Given the description of an element on the screen output the (x, y) to click on. 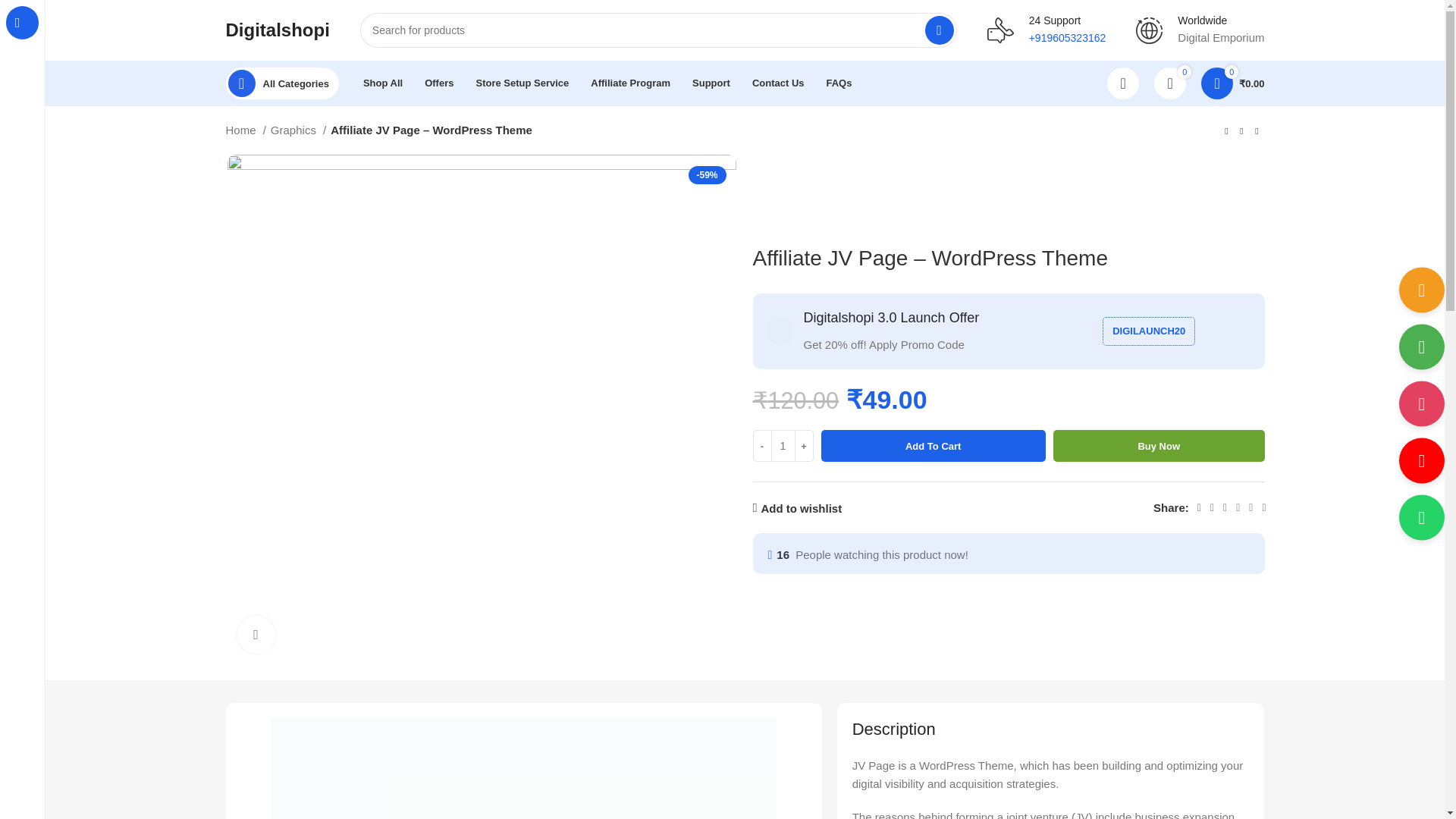
Shop All (382, 82)
Shopping cart (1232, 82)
FAQs (838, 82)
Contact Us (777, 82)
Search (938, 30)
My Wishlist (1170, 82)
My account (1123, 82)
Search for products (657, 30)
All Categories (282, 82)
promotions (779, 331)
